Given the description of an element on the screen output the (x, y) to click on. 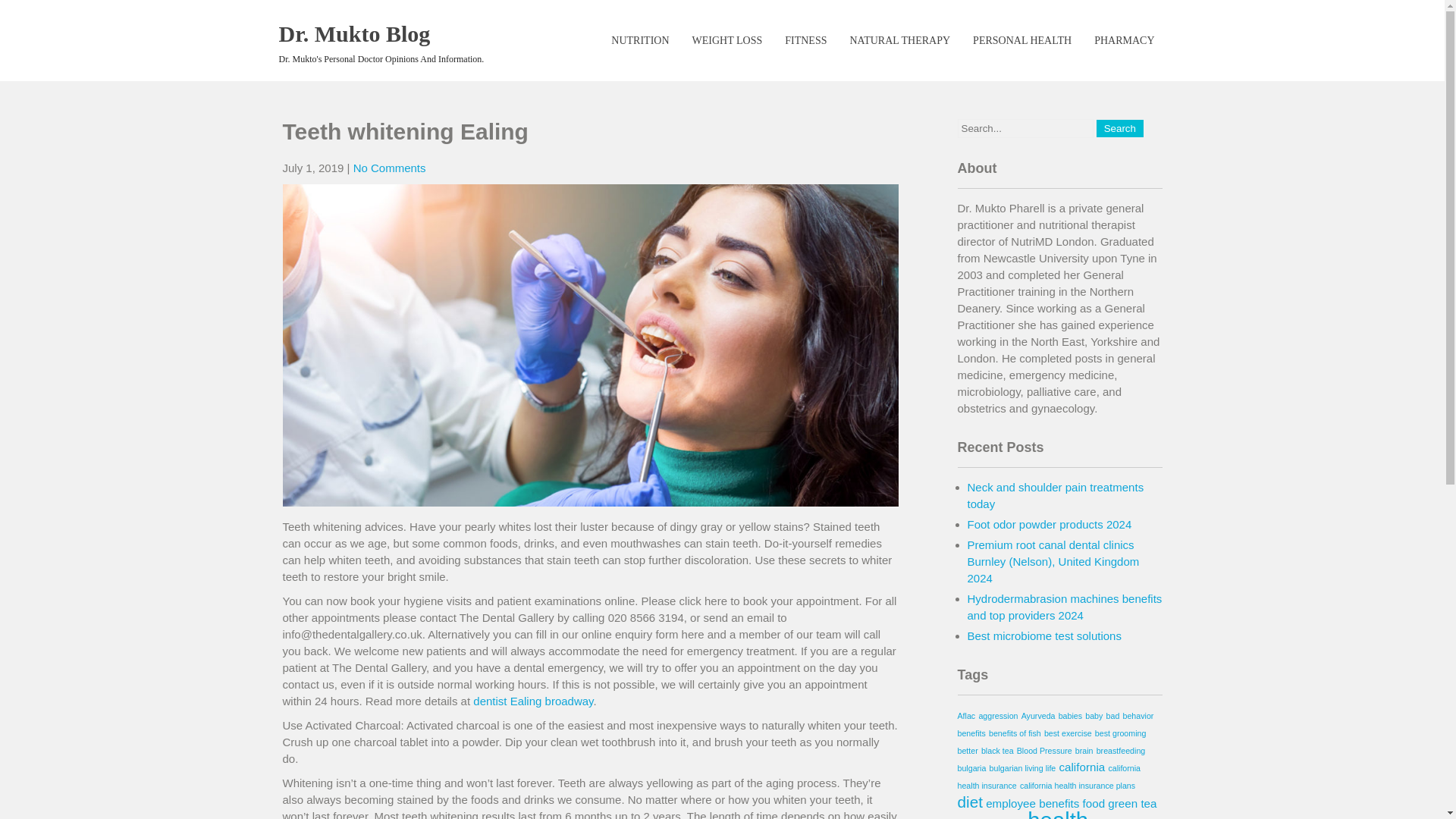
Foot odor powder products 2024 (1050, 523)
Neck and shoulder pain treatments today (1056, 495)
Search (1119, 128)
Search (1119, 128)
NUTRITION (640, 40)
bulgarian living life (1023, 768)
Hydrodermabrasion machines benefits and top providers 2024 (1064, 606)
best grooming (1120, 732)
brain (1084, 750)
No Comments (389, 167)
Blood Pressure (1043, 750)
baby (1093, 715)
Search (1119, 128)
best exercise (1067, 732)
behavior (1137, 715)
